Given the description of an element on the screen output the (x, y) to click on. 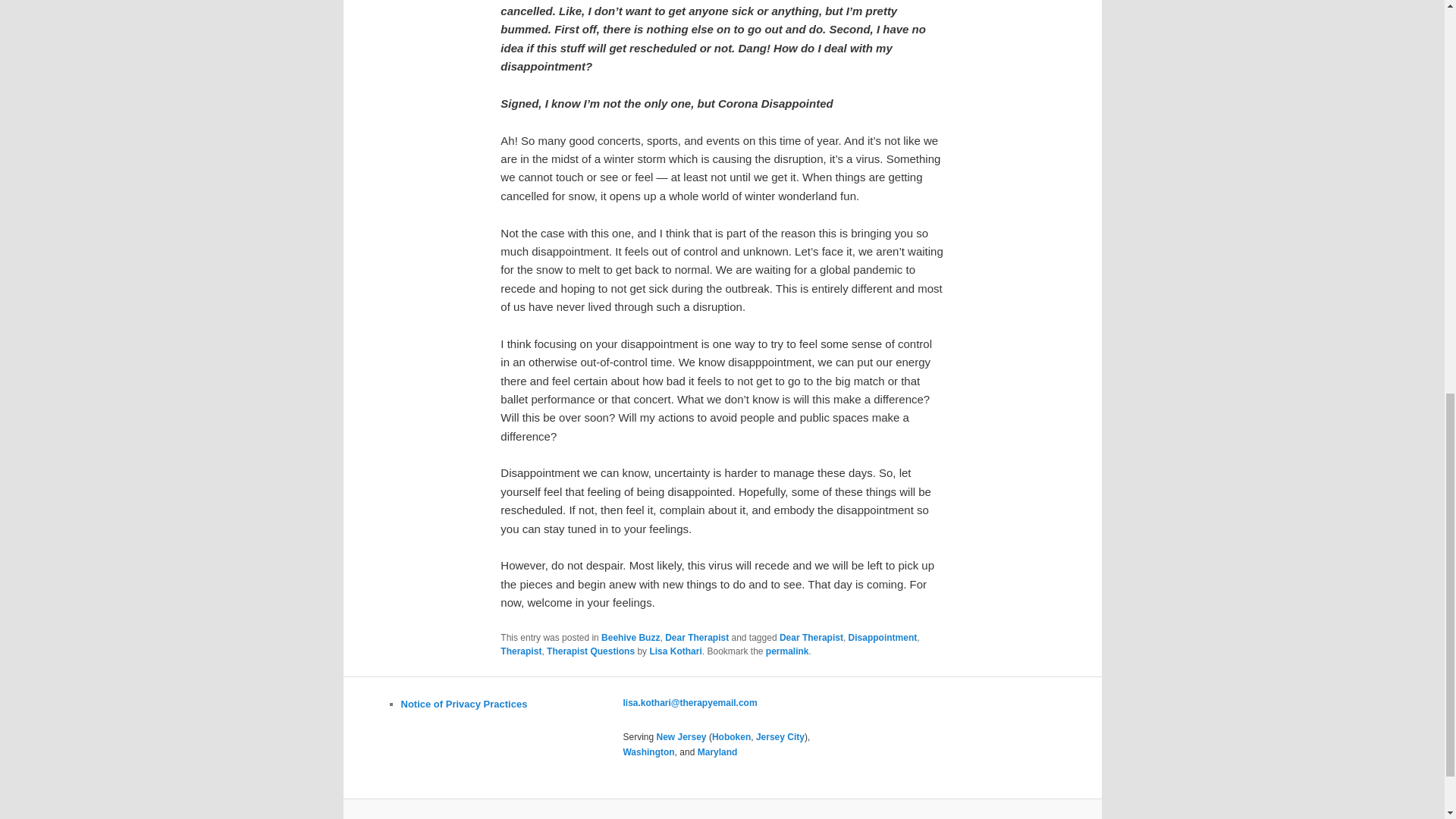
Dear Therapist (810, 637)
Lisa Kothari (675, 651)
Therapist (520, 651)
Hoboken (731, 737)
New Jersey (681, 737)
Therapist Questions (590, 651)
Notice of Privacy Practices (463, 704)
Beehive Buzz (630, 637)
Jersey City (780, 737)
Dear Therapist (697, 637)
